Given the description of an element on the screen output the (x, y) to click on. 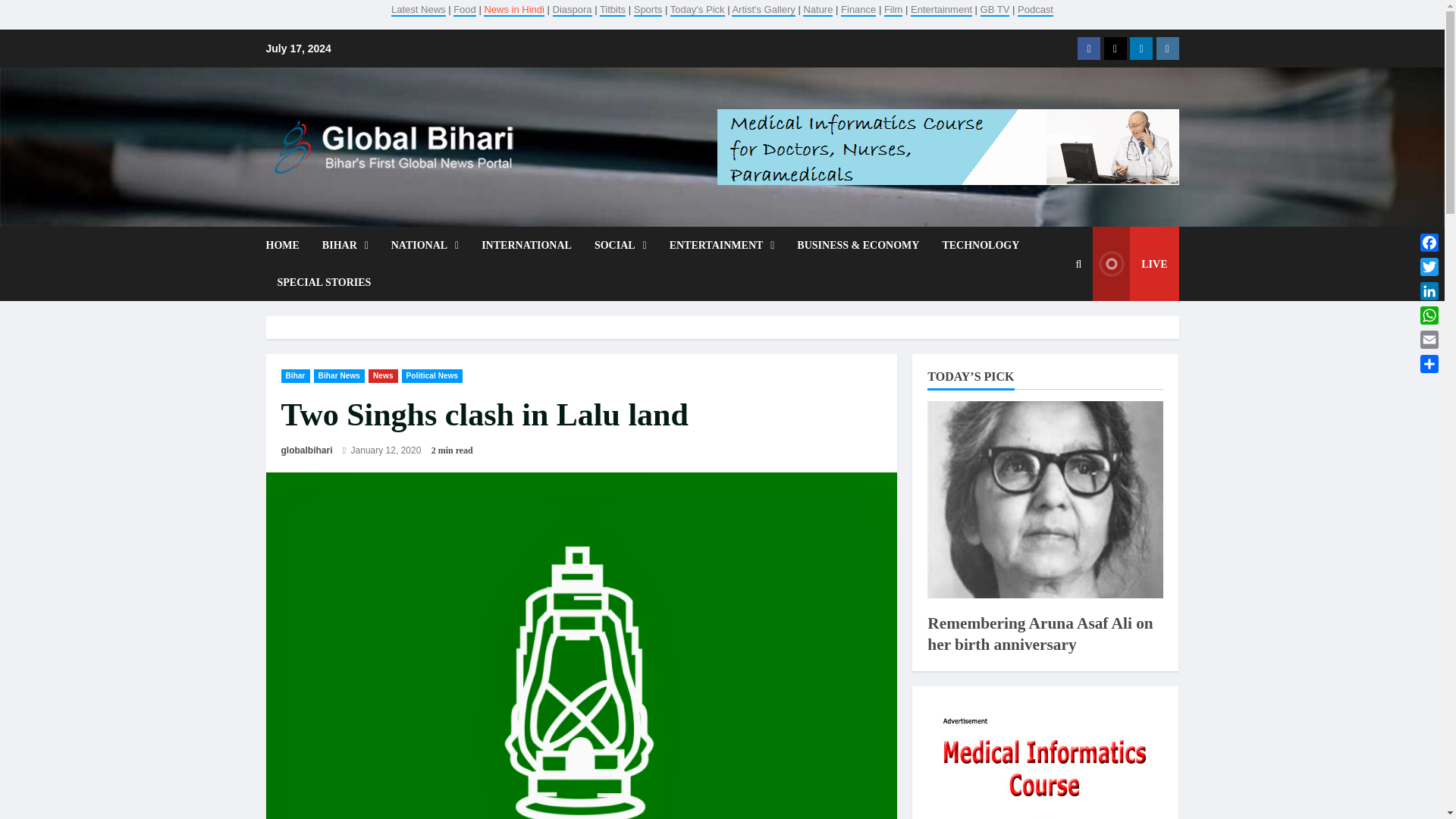
Twitter (1114, 47)
Artist's Gallery (763, 9)
Food (464, 9)
LinkedIn (1428, 291)
NATIONAL (425, 244)
WhatsApp (1428, 315)
Twitter (1428, 266)
Instagram (1166, 47)
INTERNATIONAL (526, 244)
GB TV (994, 9)
Facebook (1088, 47)
Sports (647, 9)
Latest News (418, 9)
Titbits (612, 9)
BIHAR (345, 244)
